Given the description of an element on the screen output the (x, y) to click on. 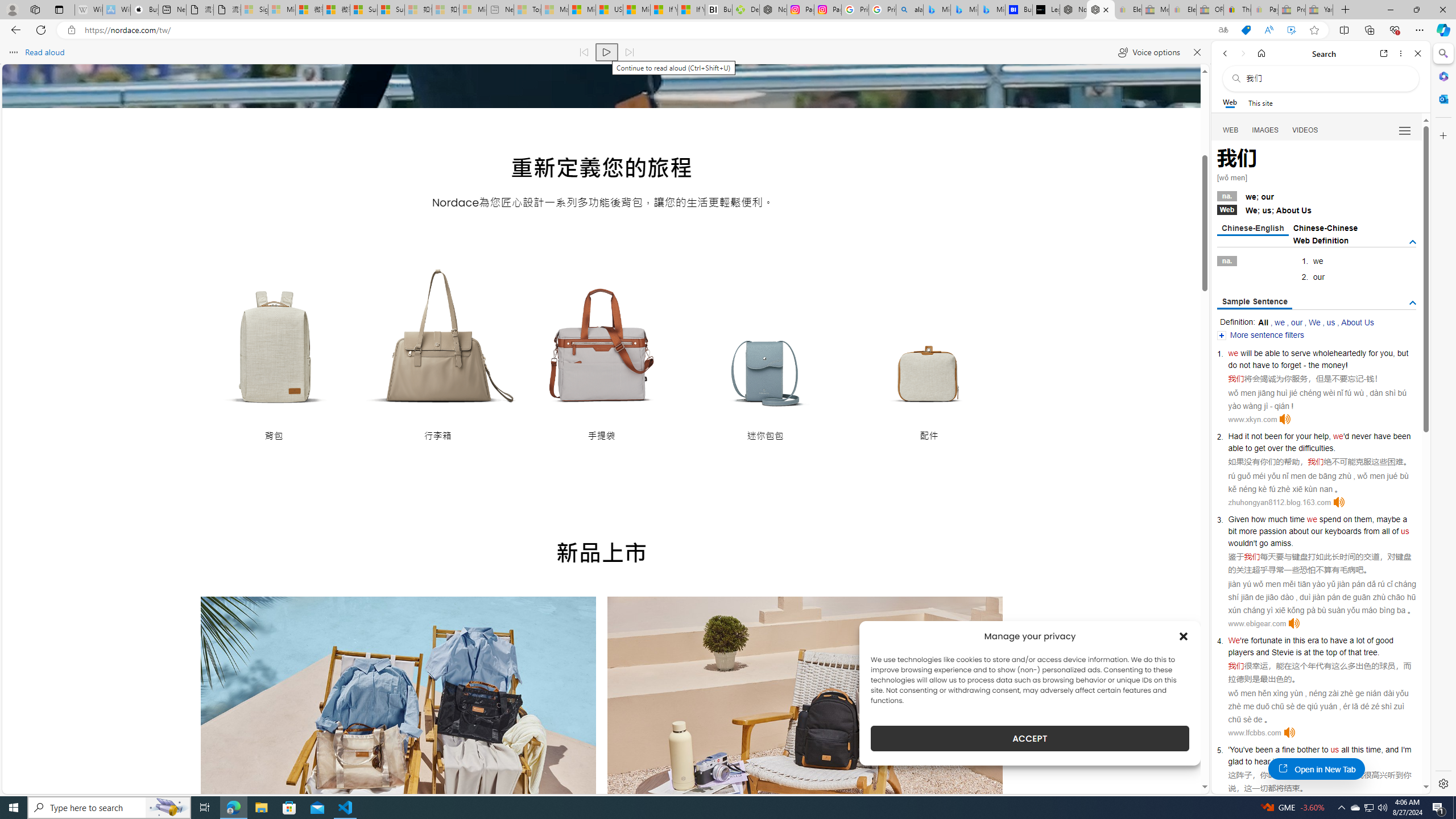
you (1386, 352)
Press Room - eBay Inc. - Sleeping (1292, 9)
Given (1238, 519)
Click to listen (1289, 732)
zhuhongyan8112.blog.163.com (1278, 501)
Class: flickity-button-icon (977, 728)
. (1330, 760)
Buy iPad - Apple (144, 9)
era (1313, 640)
